Given the description of an element on the screen output the (x, y) to click on. 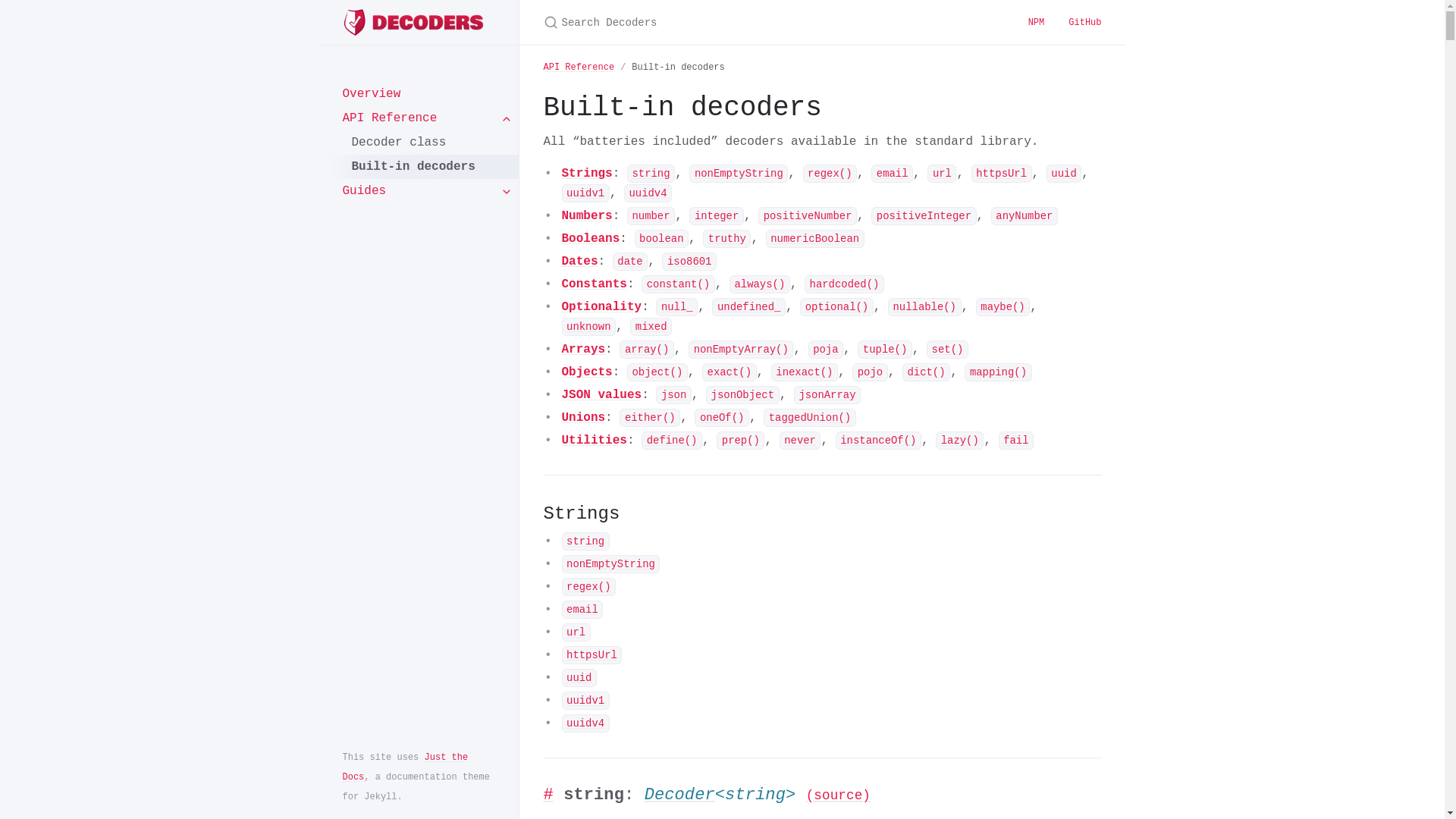
Unions Element type: text (583, 417)
unknown Element type: text (588, 326)
uuidv1 Element type: text (584, 193)
nonEmptyArray() Element type: text (740, 349)
tuple() Element type: text (884, 349)
taggedUnion() Element type: text (809, 417)
prep() Element type: text (740, 440)
nonEmptyString Element type: text (738, 173)
hardcoded() Element type: text (844, 284)
integer Element type: text (716, 215)
numericBoolean Element type: text (814, 238)
email Element type: text (892, 173)
Optionality Element type: text (601, 306)
email Element type: text (581, 609)
undefined_ Element type: text (748, 306)
uuid Element type: text (1064, 173)
exact() Element type: text (729, 372)
uuidv4 Element type: text (647, 193)
httpsUrl Element type: text (591, 655)
Utilities Element type: text (593, 440)
null_ Element type: text (676, 306)
set() Element type: text (947, 349)
NPM Element type: text (1036, 22)
# Element type: text (547, 794)
Decoder class Element type: text (422, 142)
either() Element type: text (649, 417)
never Element type: text (800, 440)
instanceOf() Element type: text (878, 440)
dict() Element type: text (926, 372)
Built-in decoders Element type: text (422, 166)
uuidv1 Element type: text (584, 700)
positiveNumber Element type: text (807, 215)
inexact() Element type: text (804, 372)
string Element type: text (650, 173)
constant() Element type: text (678, 284)
Arrays Element type: text (583, 349)
fail Element type: text (1016, 440)
nonEmptyString Element type: text (610, 564)
GitHub Element type: text (1084, 22)
json Element type: text (673, 394)
Guides Element type: text (418, 190)
regex() Element type: text (588, 586)
lazy() Element type: text (959, 440)
Strings Element type: text (586, 173)
array() Element type: text (646, 349)
iso8601 Element type: text (689, 261)
Objects Element type: text (586, 372)
Overview Element type: text (418, 93)
url Element type: text (941, 173)
anyNumber Element type: text (1024, 215)
string Element type: text (584, 541)
maybe() Element type: text (1002, 306)
truthy Element type: text (726, 238)
poja Element type: text (826, 349)
JSON values Element type: text (601, 394)
API Reference Element type: text (418, 118)
Numbers Element type: text (586, 215)
nullable() Element type: text (924, 306)
regex() Element type: text (829, 173)
always() Element type: text (759, 284)
jsonObject Element type: text (742, 394)
httpsUrl Element type: text (1001, 173)
number Element type: text (650, 215)
Constants Element type: text (593, 284)
boolean Element type: text (661, 238)
object() Element type: text (657, 372)
uuidv4 Element type: text (584, 723)
positiveInteger Element type: text (923, 215)
Decoder Element type: text (679, 794)
Dates Element type: text (579, 261)
define() Element type: text (671, 440)
pojo Element type: text (870, 372)
API Reference Element type: text (578, 67)
oneOf() Element type: text (721, 417)
url Element type: text (575, 632)
uuid Element type: text (578, 677)
(source) Element type: text (838, 794)
jsonArray Element type: text (826, 394)
mixed Element type: text (650, 326)
Just the Docs Element type: text (405, 767)
Booleans Element type: text (590, 238)
optional() Element type: text (836, 306)
mapping() Element type: text (997, 372)
date Element type: text (630, 261)
